Given the description of an element on the screen output the (x, y) to click on. 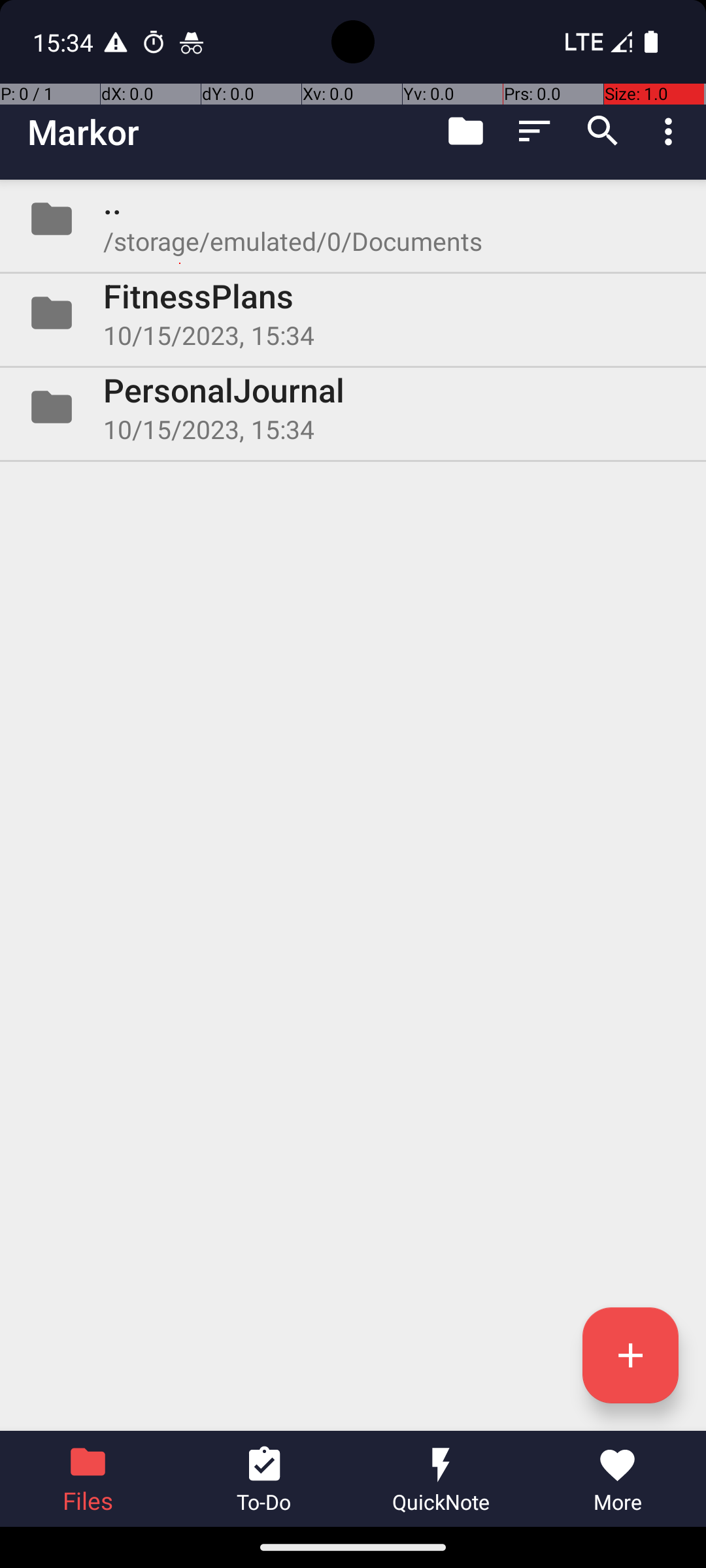
Folder FitnessPlans  Element type: android.widget.LinearLayout (353, 312)
Folder PersonalJournal  Element type: android.widget.LinearLayout (353, 406)
